Given the description of an element on the screen output the (x, y) to click on. 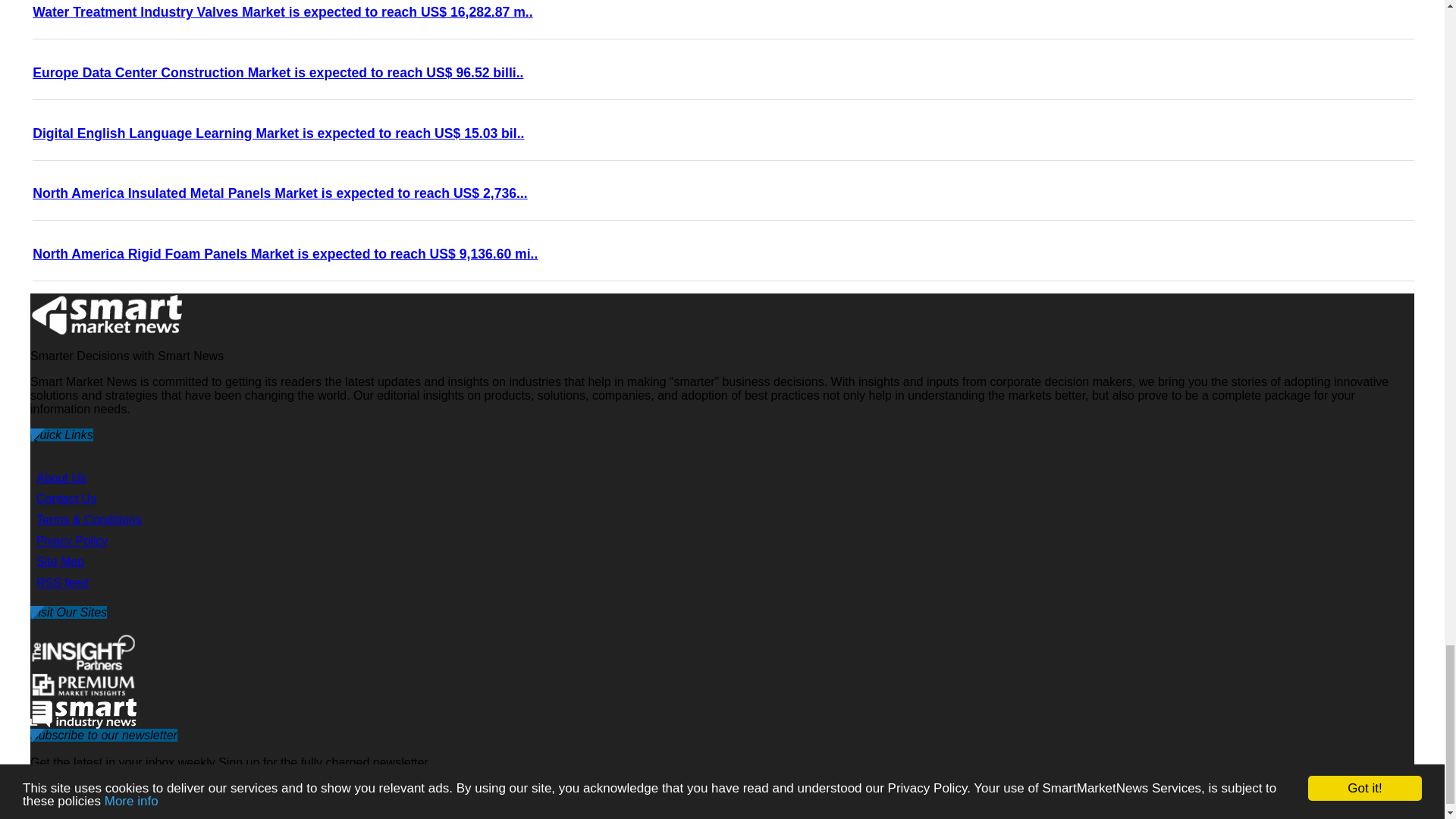
Sign Up (487, 810)
on (38, 808)
